Given the description of an element on the screen output the (x, y) to click on. 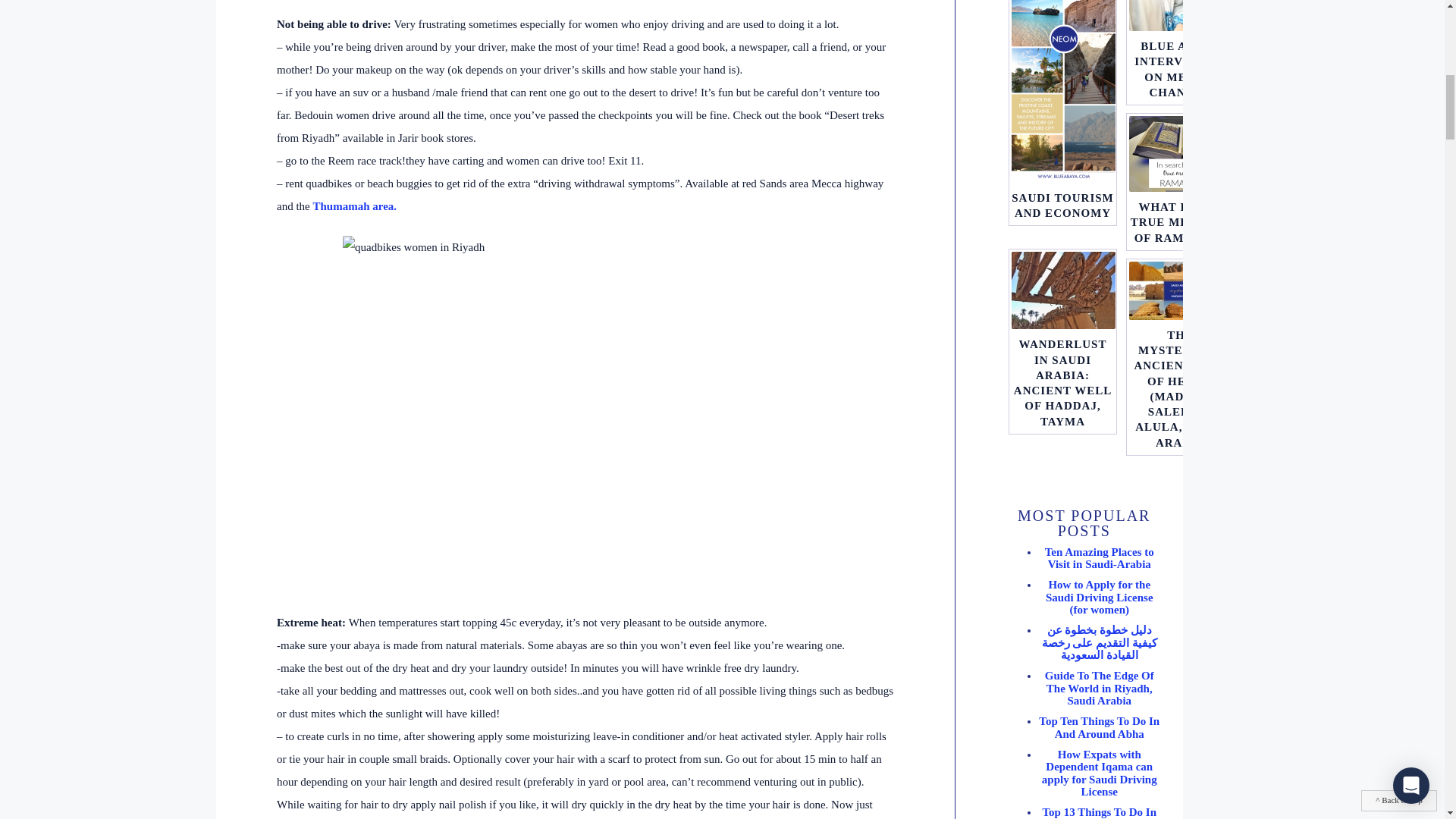
permalink to Blue Abaya Interviewed on MBC TV Channel (1180, 15)
permalink to Saudi Tourism and Economy (1062, 205)
permalink to Blue Abaya Interviewed on MBC TV Channel (1179, 69)
